Given the description of an element on the screen output the (x, y) to click on. 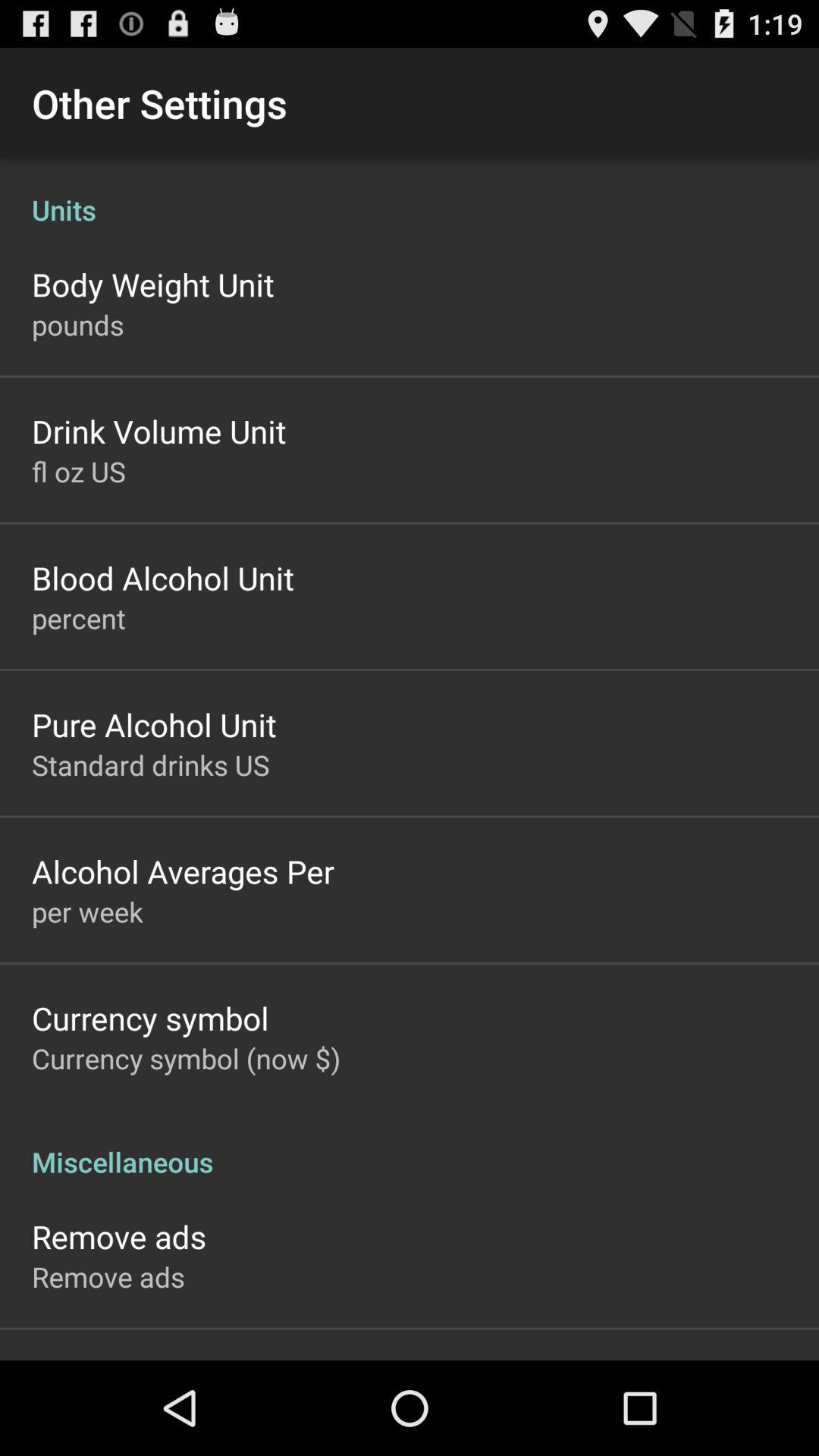
click app above blood alcohol unit item (78, 471)
